Given the description of an element on the screen output the (x, y) to click on. 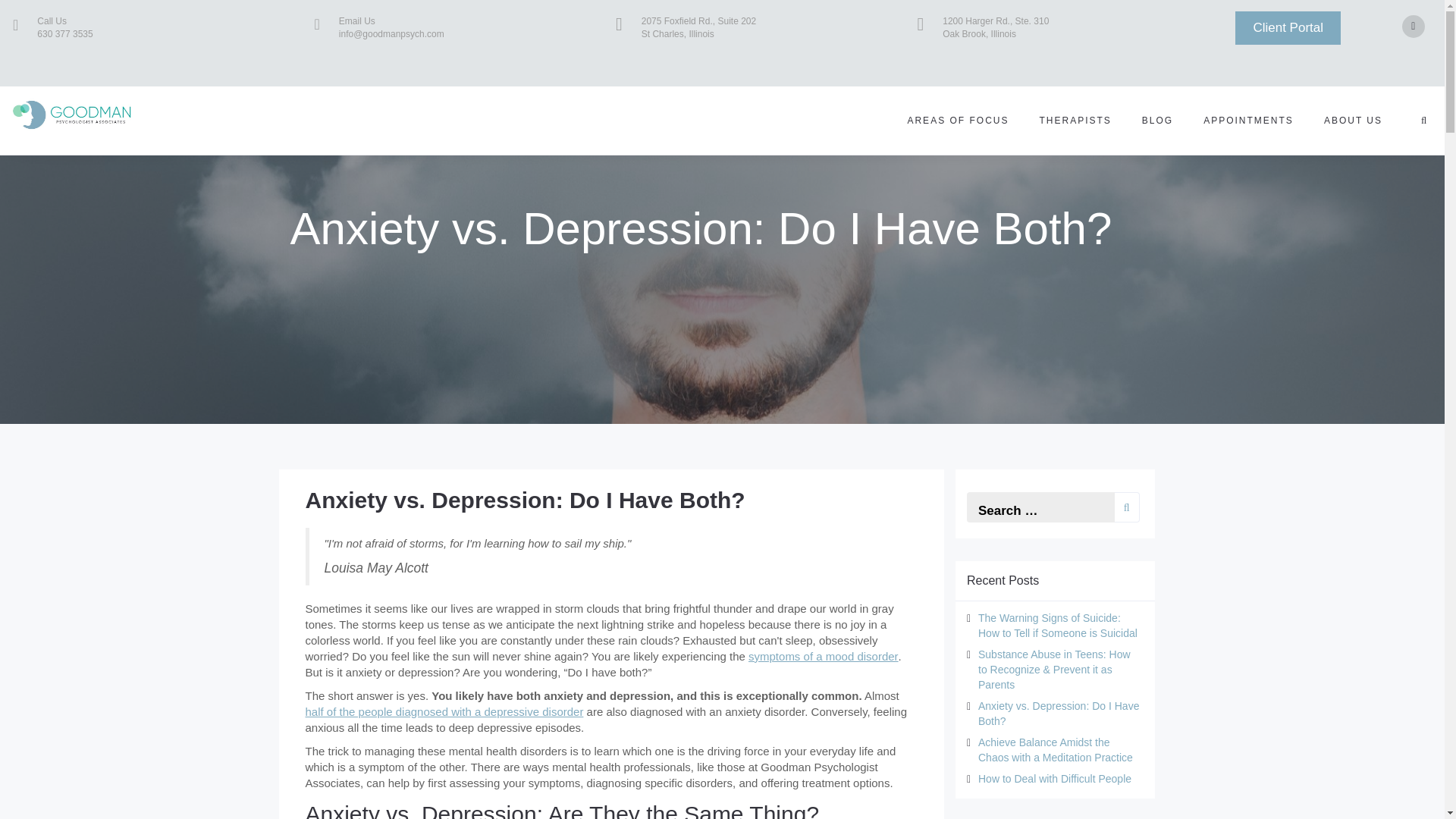
THERAPISTS (1074, 119)
AREAS OF FOCUS (957, 119)
Client Portal (1287, 28)
